Given the description of an element on the screen output the (x, y) to click on. 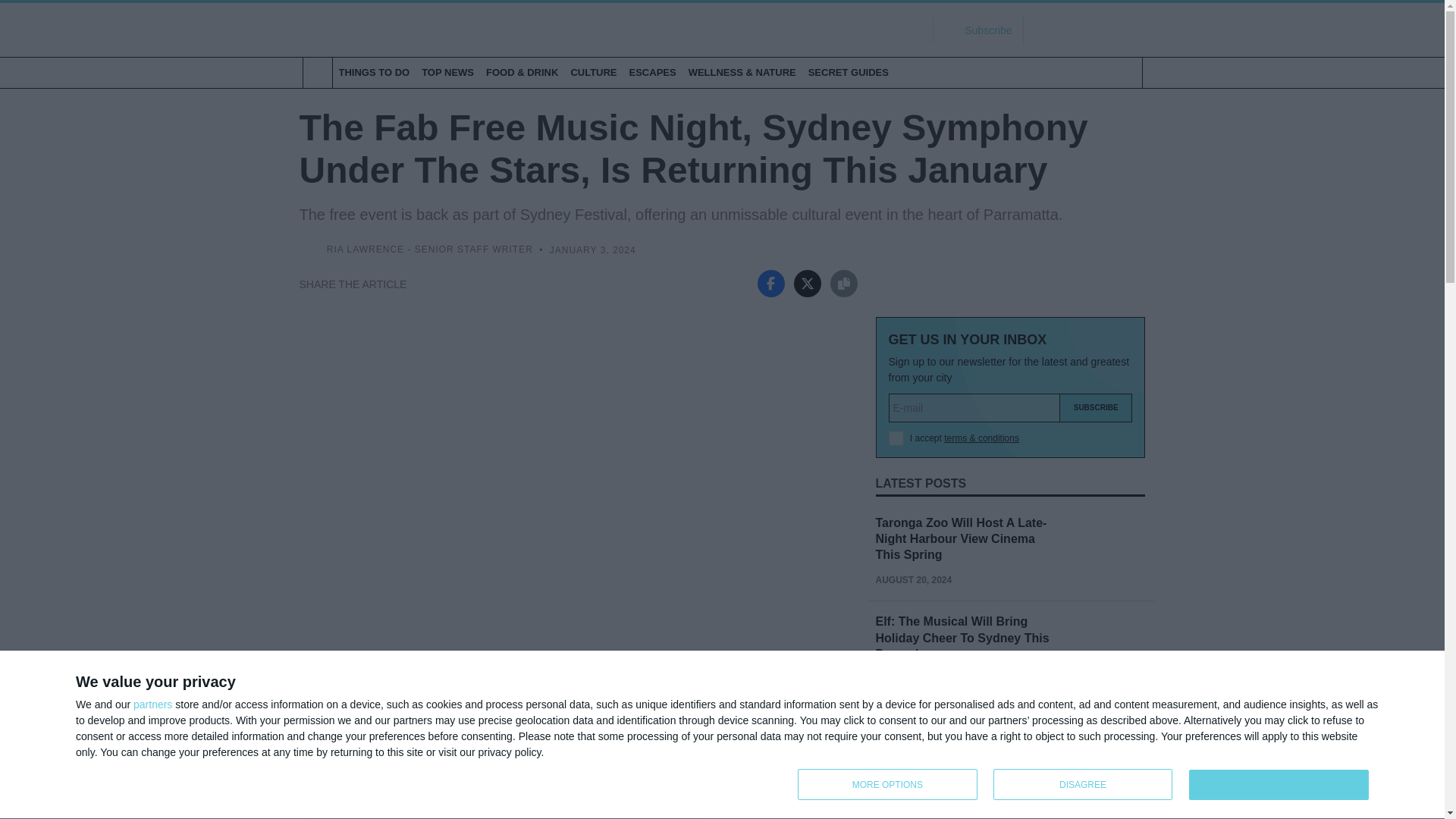
SECRET GUIDES (848, 72)
THINGS TO DO (373, 72)
AUGUST 20, 2024 (913, 679)
MORE OPTIONS (886, 784)
partners (152, 704)
Subscribe (1095, 407)
RIA LAWRENCE (365, 249)
DISAGREE (1082, 784)
Subscribe (1095, 407)
